Given the description of an element on the screen output the (x, y) to click on. 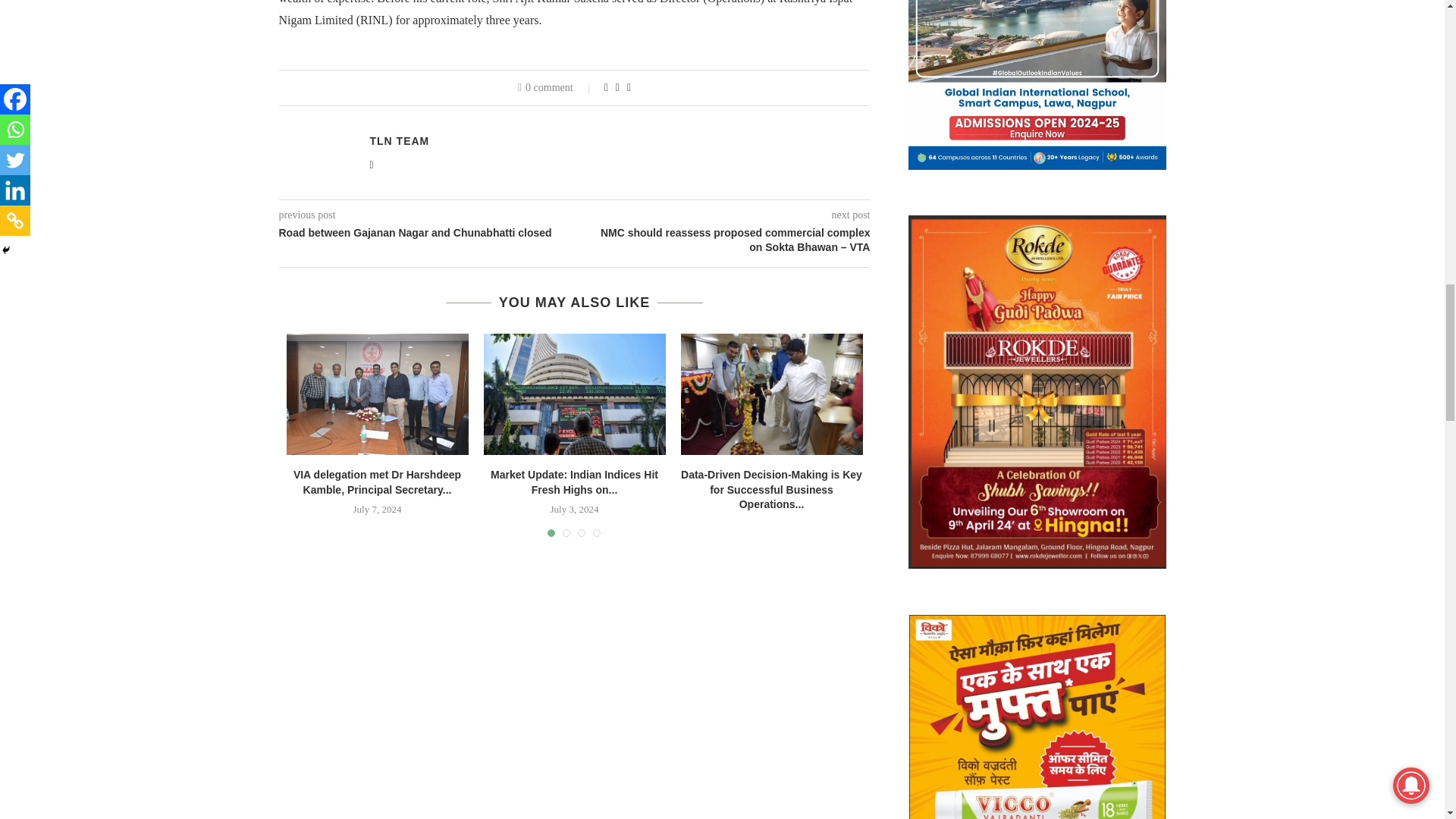
Posts by TLN Team (399, 141)
